Given the description of an element on the screen output the (x, y) to click on. 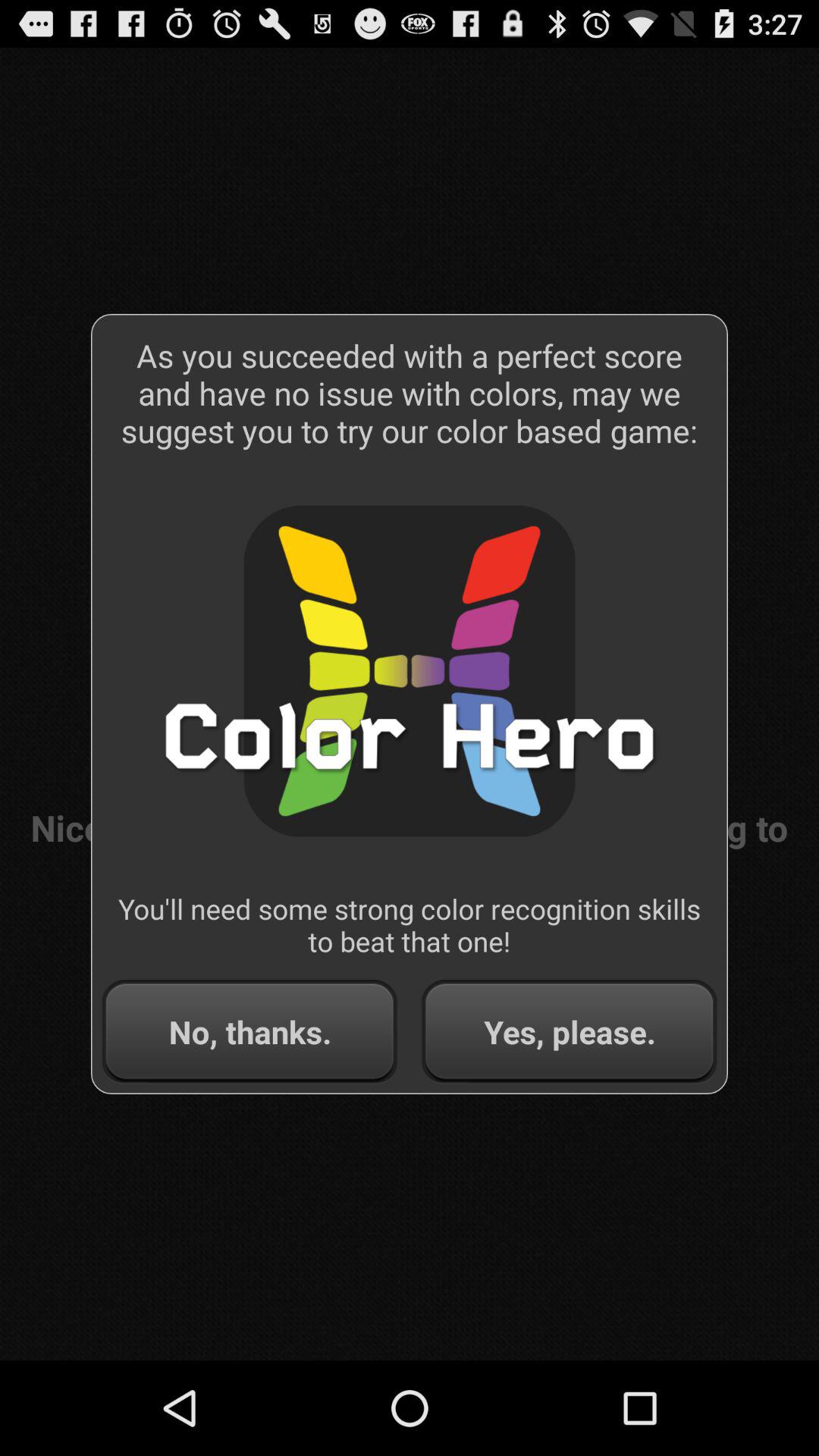
choose the icon at the bottom right corner (568, 1031)
